Given the description of an element on the screen output the (x, y) to click on. 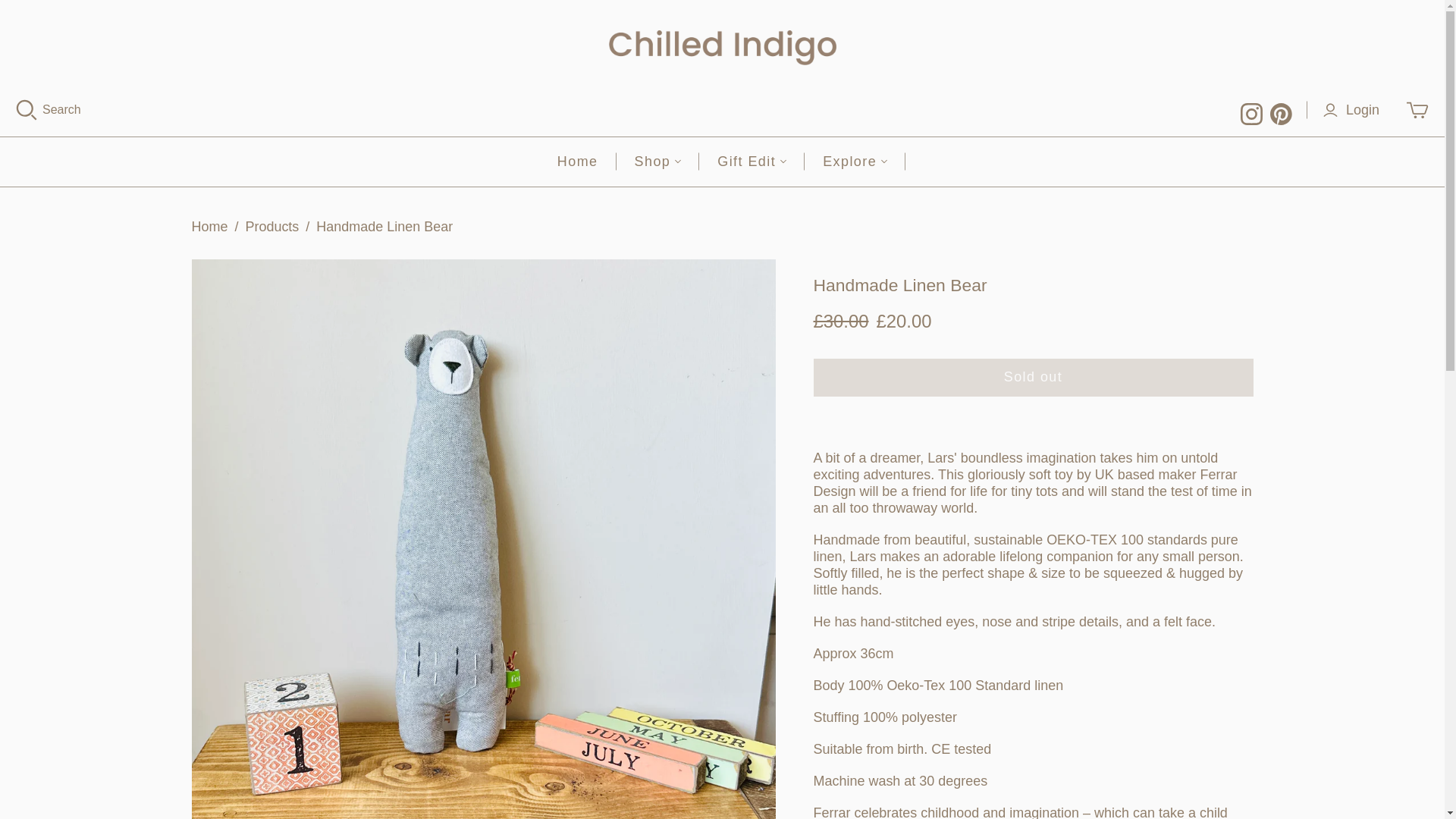
Home (576, 161)
Login (1354, 110)
